Given the description of an element on the screen output the (x, y) to click on. 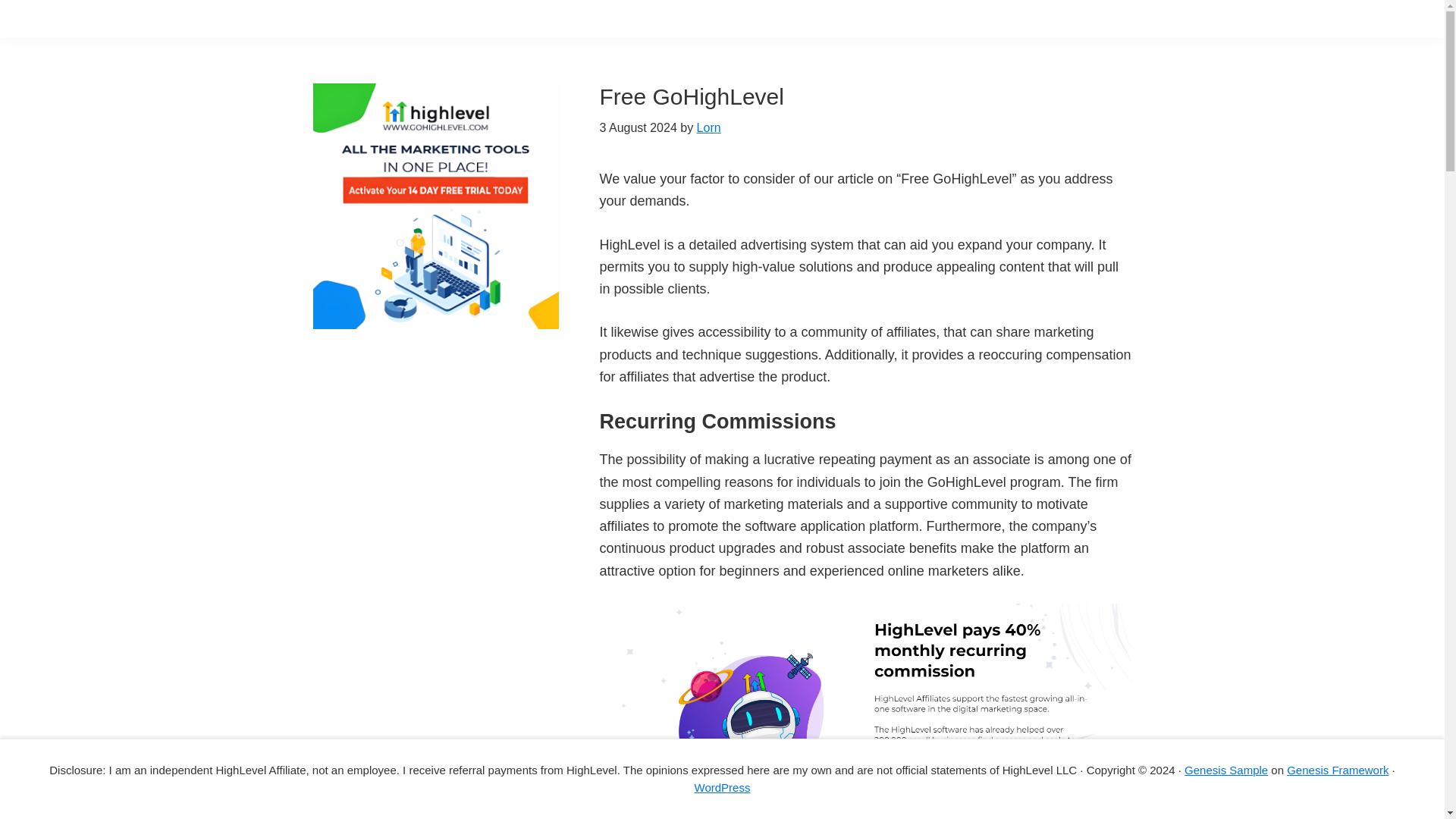
Genesis Sample (1226, 769)
WordPress (722, 787)
Genesis Framework (1338, 769)
Lorn (708, 127)
